Given the description of an element on the screen output the (x, y) to click on. 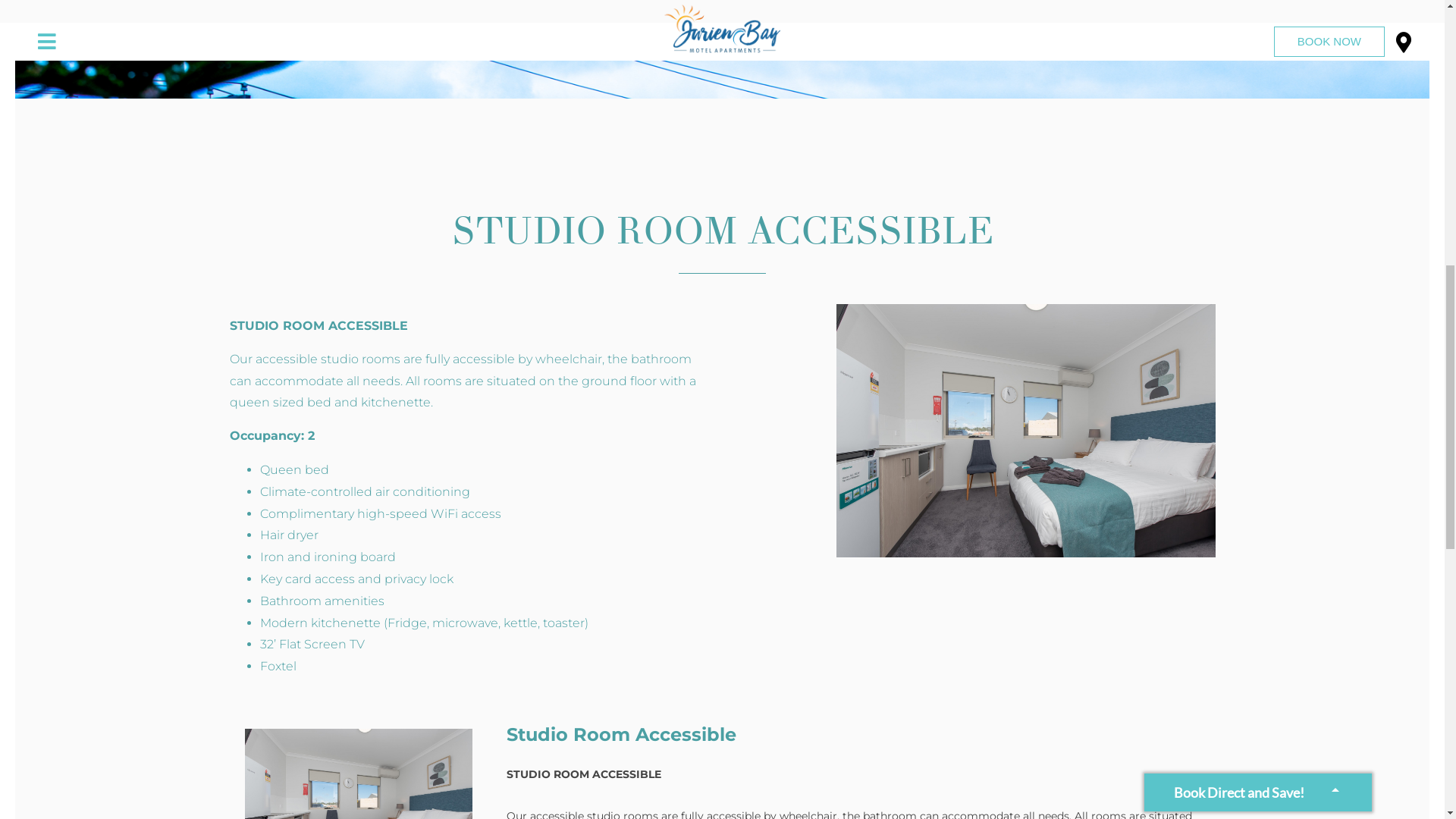
BOOK NOW Element type: text (1329, 777)
